Given the description of an element on the screen output the (x, y) to click on. 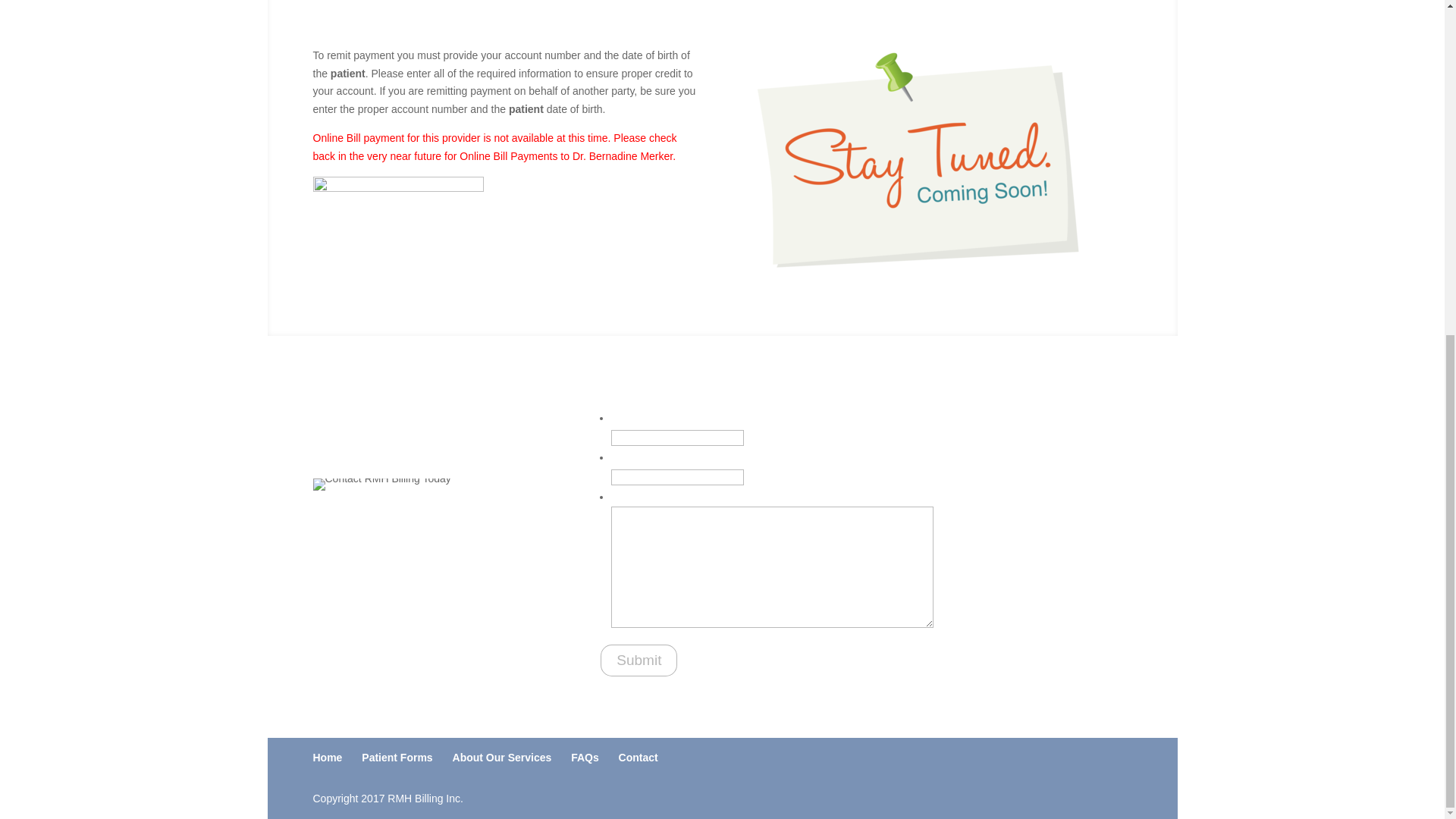
Patient Forms (396, 757)
Contact RMH Billing Today (381, 484)
Bill Pay Service Coming Soon (915, 160)
FAQs (584, 757)
Home (327, 757)
About Our Services (501, 757)
Contact (638, 757)
Submit (638, 660)
Submit (638, 660)
